Given the description of an element on the screen output the (x, y) to click on. 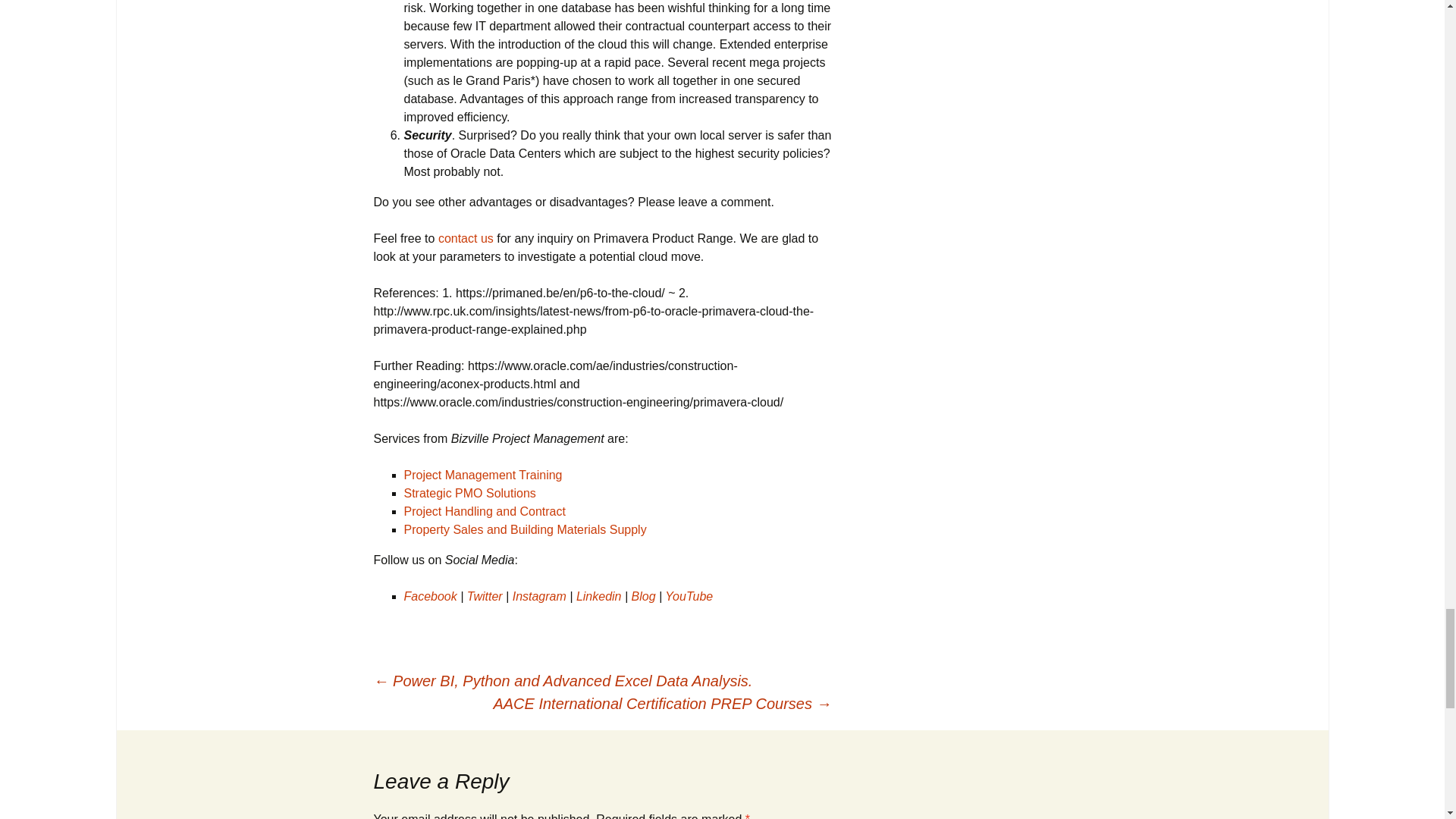
Strategic PMO Solutions (469, 492)
Property Sales and Building Materials Supply (524, 529)
Project Management Training (482, 474)
Twitter (484, 595)
YouTube (689, 595)
contact us (465, 237)
Blog (643, 595)
Instagram (537, 595)
Linkedin (598, 595)
Project Handling and Contract (483, 511)
Facebook (430, 595)
